Given the description of an element on the screen output the (x, y) to click on. 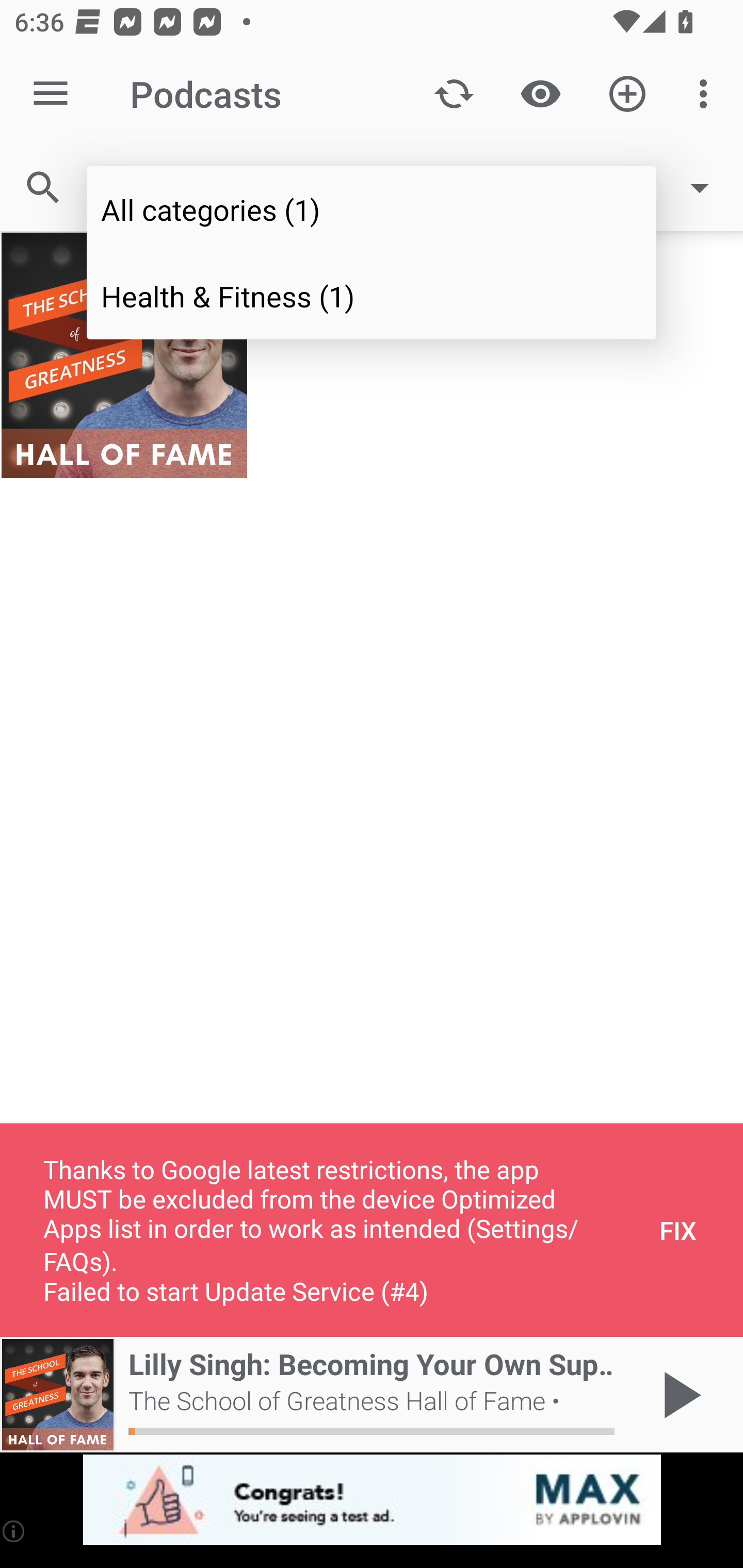
All categories (1) (371, 209)
Health & Fitness (1) (371, 295)
